Given the description of an element on the screen output the (x, y) to click on. 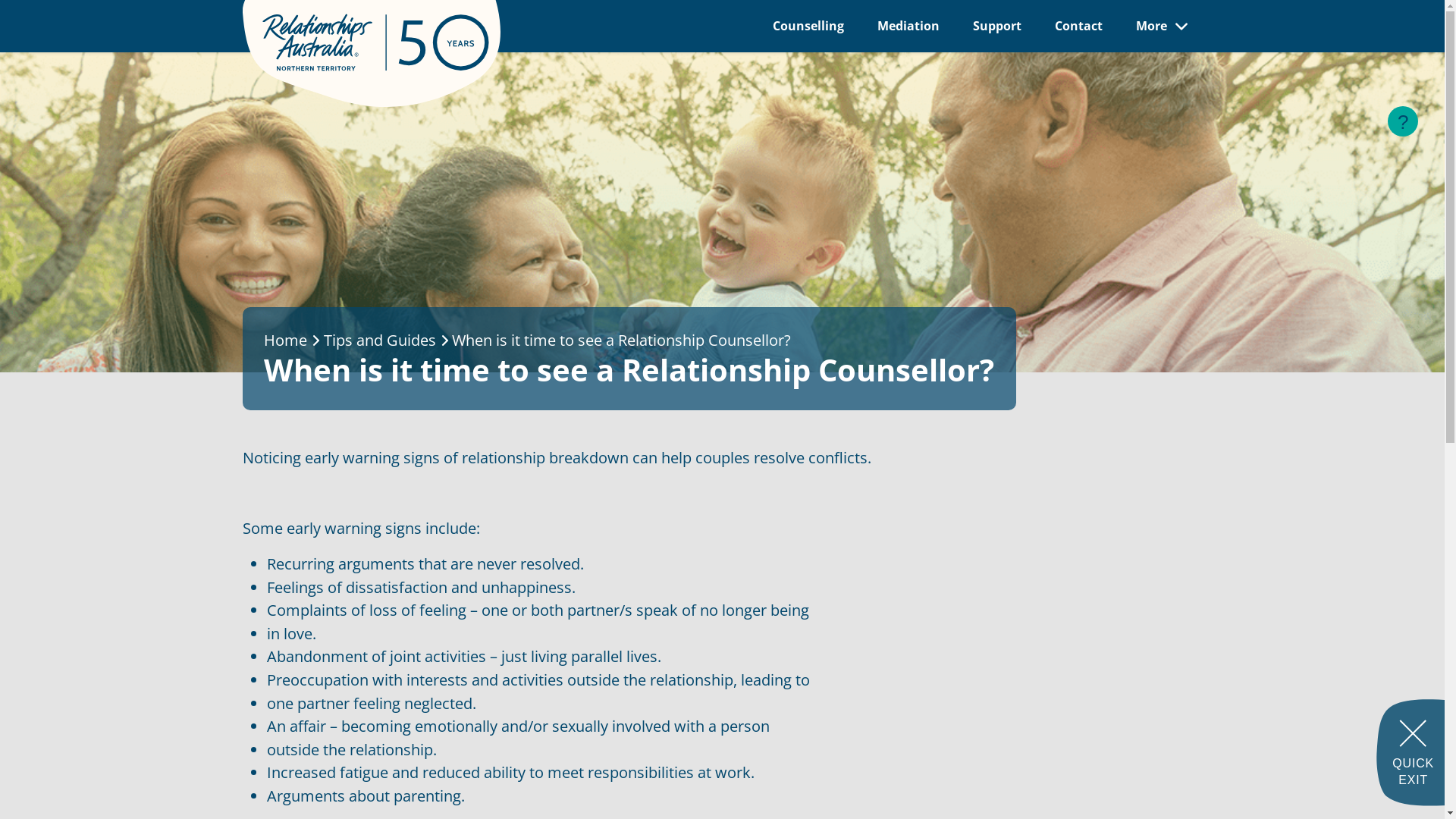
Mediation Element type: text (907, 26)
Home Element type: text (285, 339)
Support Element type: text (996, 26)
Counselling Element type: text (807, 26)
Tips and Guides Element type: text (379, 339)
Contact Element type: text (1077, 26)
